Given the description of an element on the screen output the (x, y) to click on. 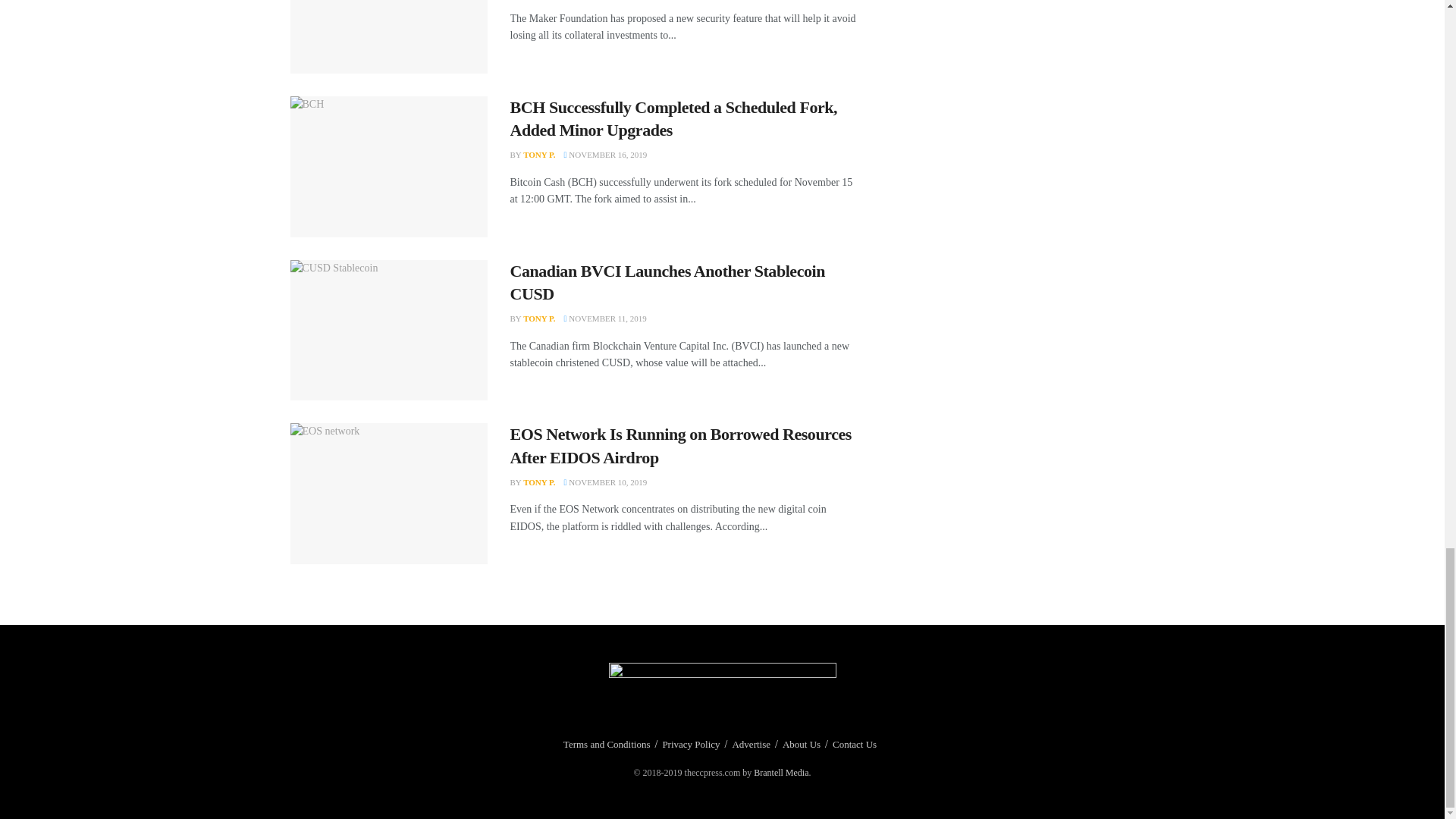
Brantell Media (781, 772)
